Given the description of an element on the screen output the (x, y) to click on. 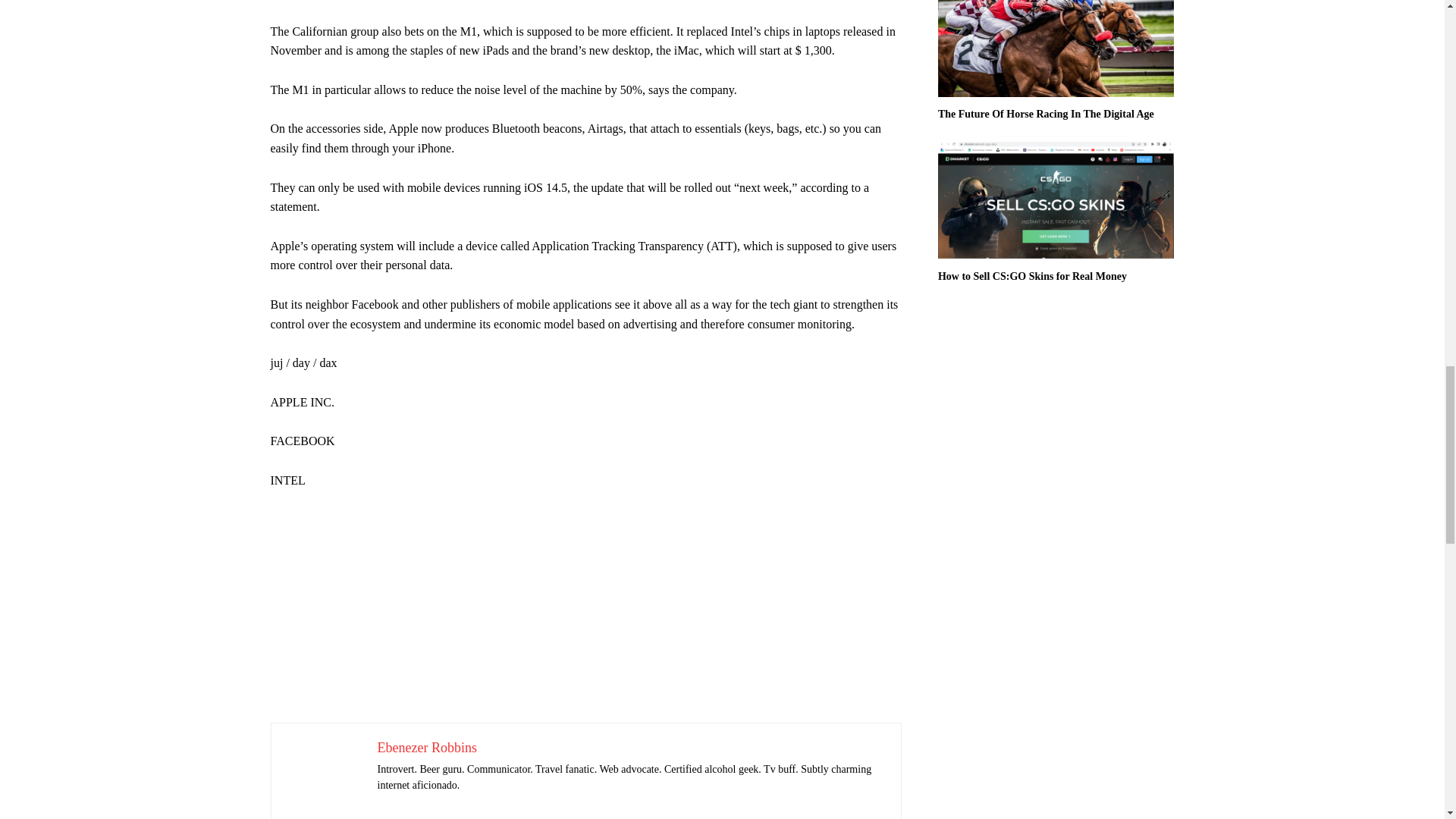
Advertisement (585, 11)
Advertisement (585, 616)
